Given the description of an element on the screen output the (x, y) to click on. 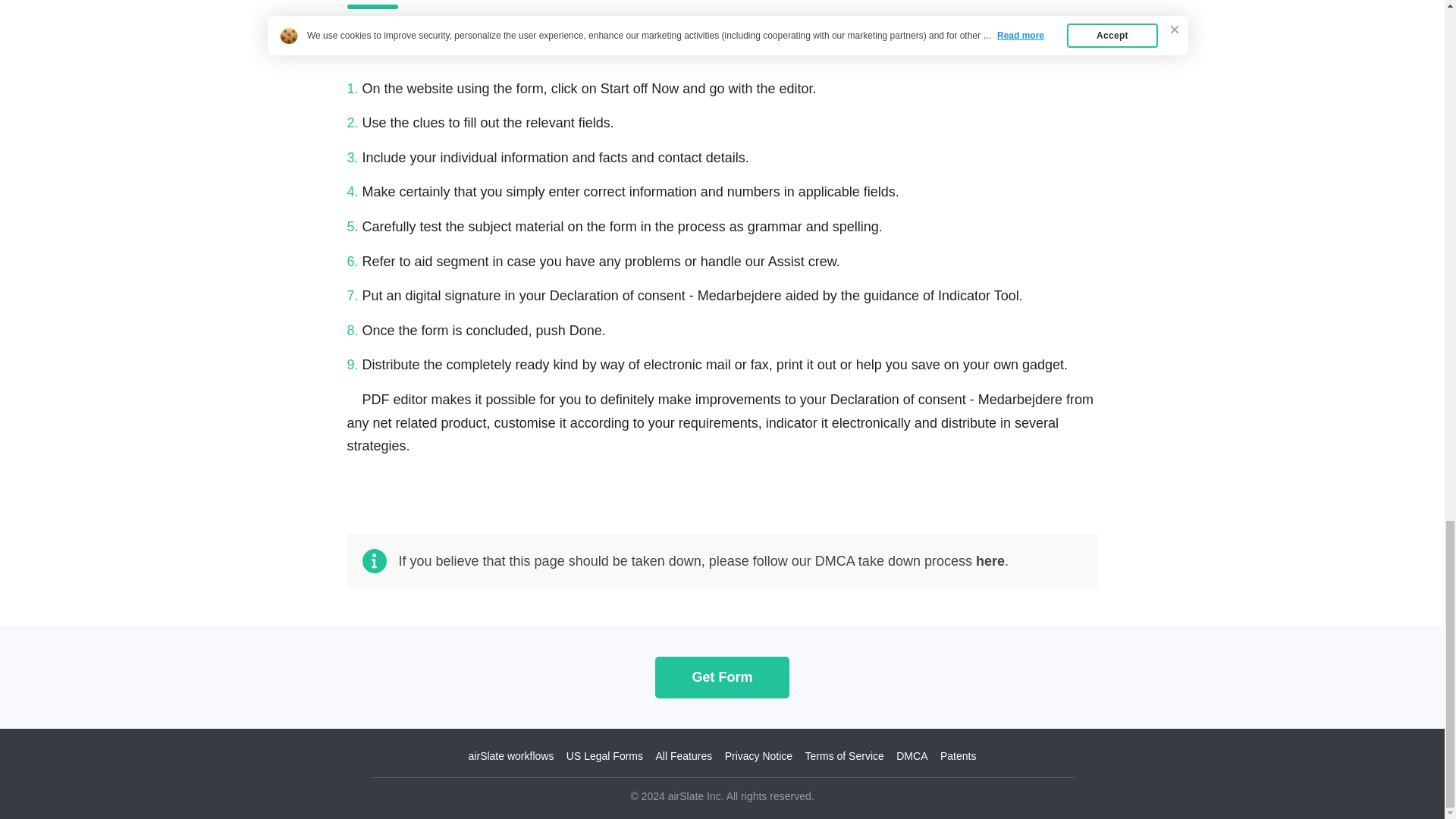
US Legal Forms (604, 756)
Privacy Notice (758, 756)
Patents (957, 756)
Terms of Service (844, 756)
DMCA (911, 756)
Get Form (722, 676)
here (989, 560)
airSlate workflows (511, 756)
All Features (683, 756)
